Given the description of an element on the screen output the (x, y) to click on. 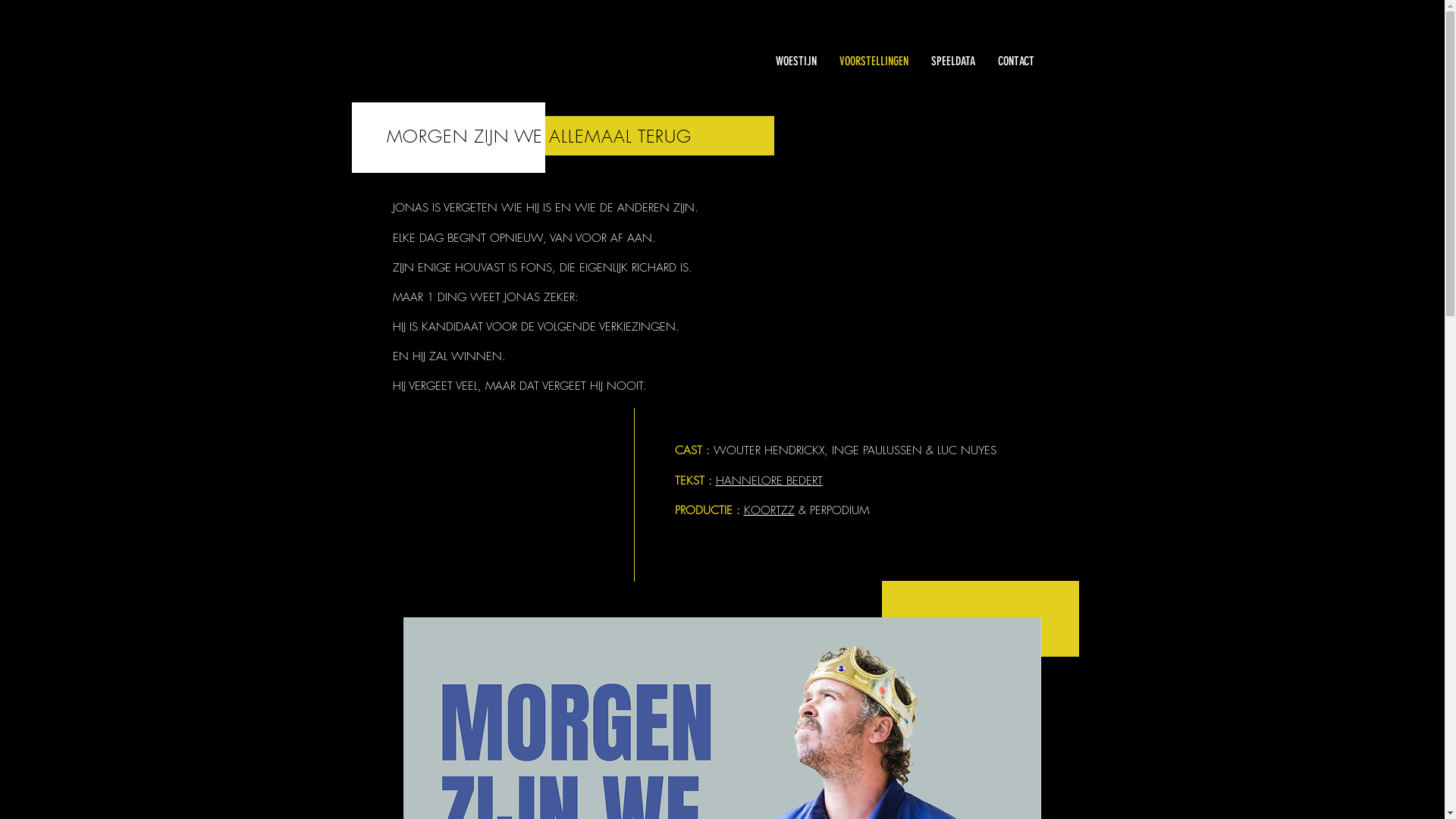
SPEELDATA Element type: text (952, 61)
HANNELORE BEDERT Element type: text (768, 480)
CONTACT Element type: text (1014, 61)
VOORSTELLINGEN Element type: text (873, 61)
WOESTIJN Element type: text (796, 61)
KOORTZZ Element type: text (768, 509)
